Given the description of an element on the screen output the (x, y) to click on. 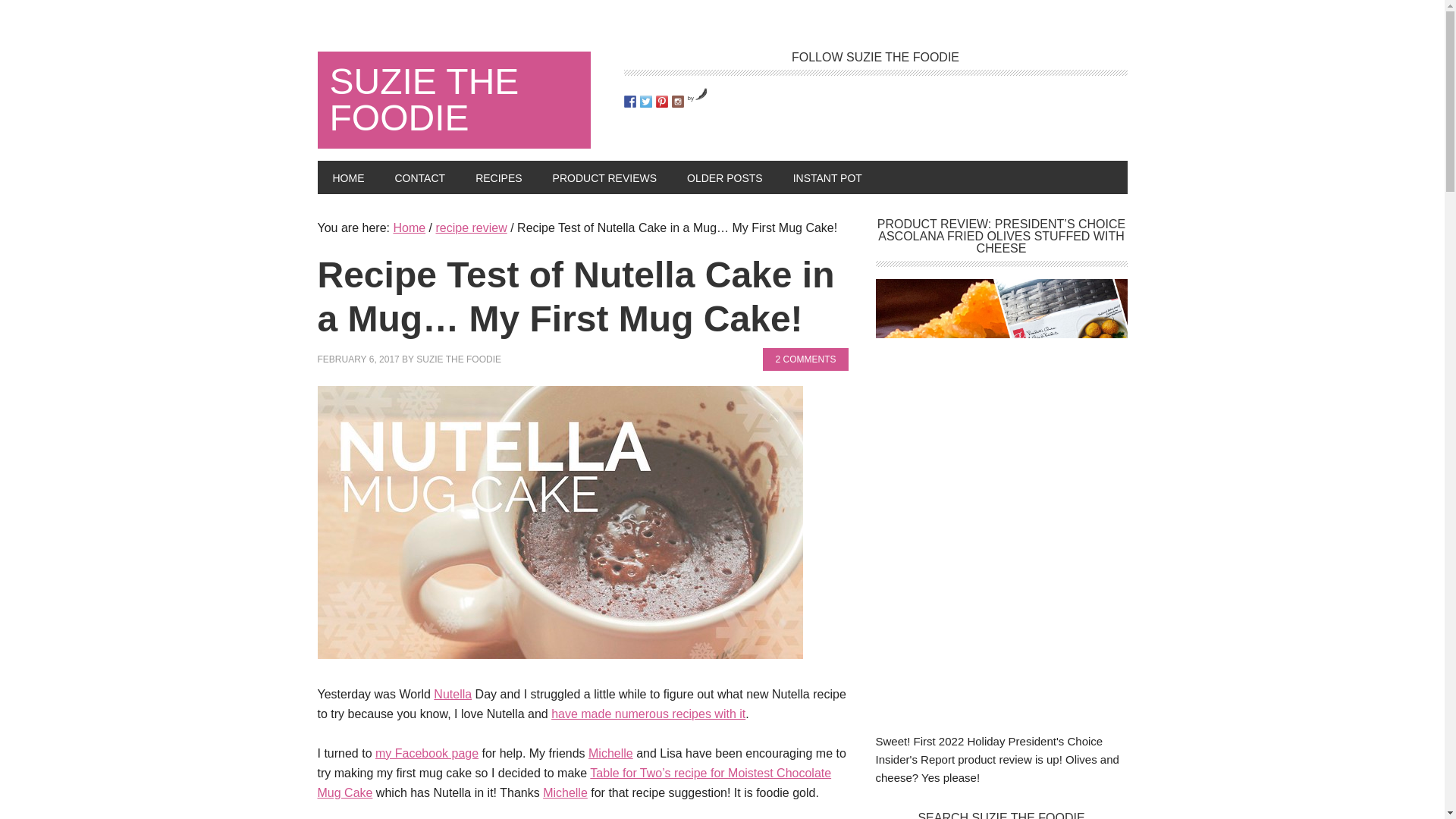
Michelle (565, 792)
RECIPES (498, 177)
my Facebook page (427, 753)
Nutella (452, 694)
Follow me on Facebook (628, 101)
SUZIE THE FOODIE (458, 358)
WordPress Social Media Feather (697, 98)
Michelle (610, 753)
Recipe Test of Nutella Cake in a Mug... My First Mug Cake! (559, 654)
Follow me on Pinterest (660, 101)
